Given the description of an element on the screen output the (x, y) to click on. 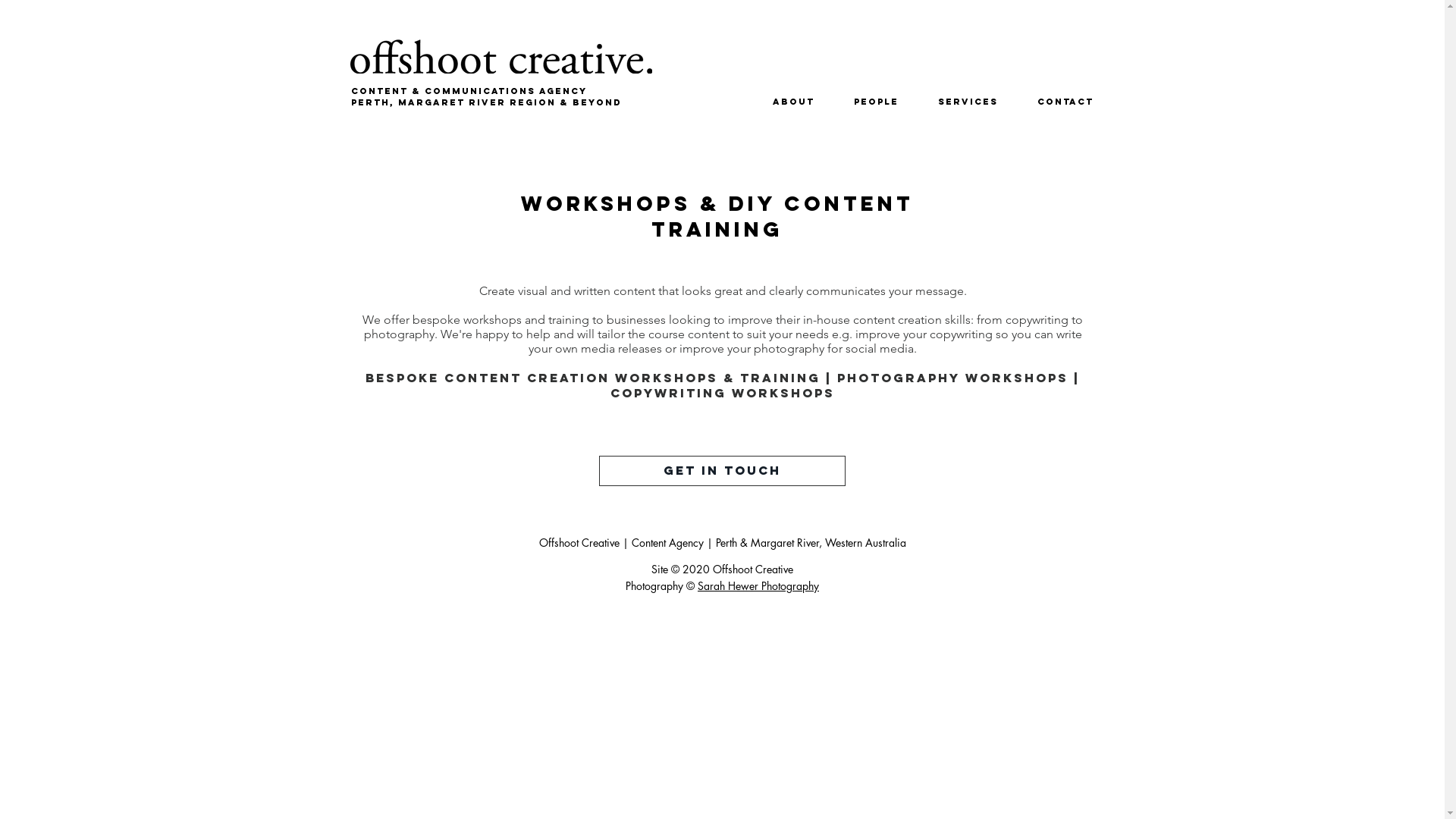
PEOPLE Element type: text (867, 101)
CONTACT Element type: text (1056, 101)
Content & Communications AGENCY Element type: text (468, 90)
GET IN TOUCH Element type: text (722, 470)
Sarah Hewer Photography Element type: text (758, 585)
ABOUT Element type: text (784, 101)
Perth, Margaret River REGION & BEYOND Element type: text (485, 101)
